Given the description of an element on the screen output the (x, y) to click on. 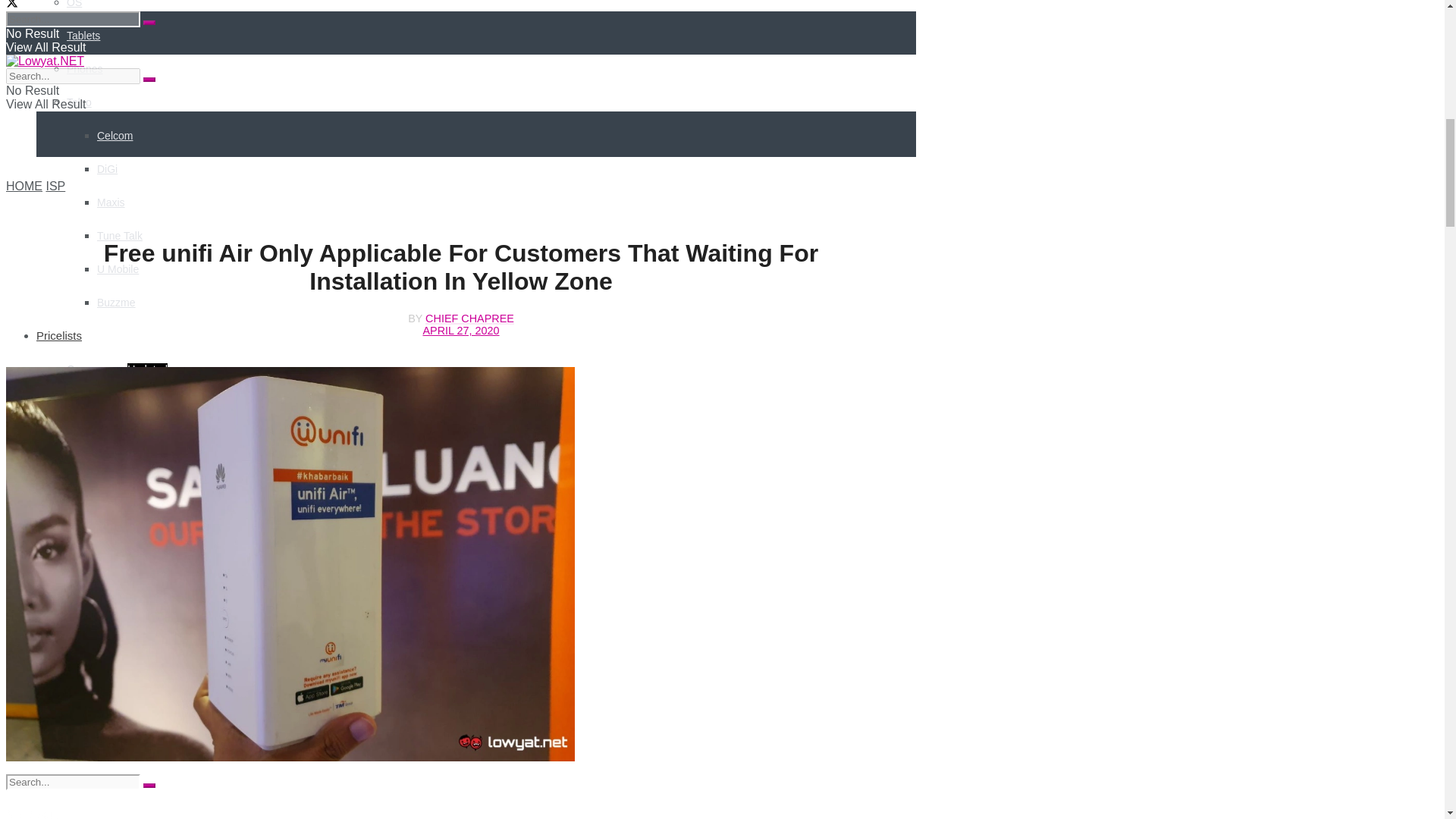
Celcom (114, 135)
Tune Talk (119, 235)
Phones (83, 69)
Maxis (111, 202)
DiGi (107, 168)
Tablets (83, 35)
OS (73, 4)
Telco (78, 102)
